Given the description of an element on the screen output the (x, y) to click on. 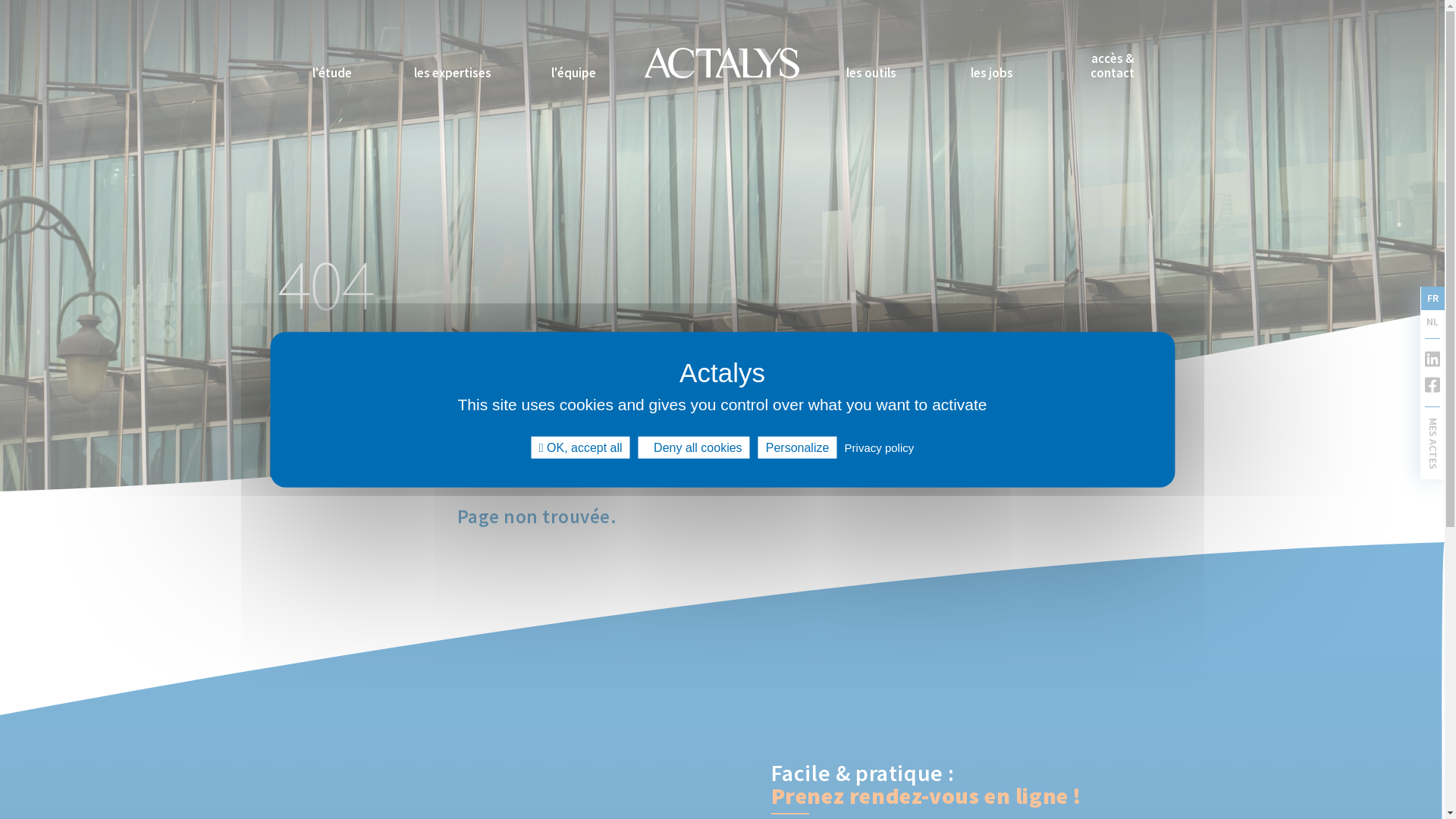
OK, accept all Element type: text (580, 447)
Prenez rendez-vous en ligne ! Element type: text (925, 799)
les outils Element type: text (871, 75)
les jobs Element type: text (991, 75)
les expertises Element type: text (452, 75)
Personalize Element type: text (797, 447)
Privacy policy Element type: text (879, 446)
Deny all cookies Element type: text (693, 447)
FR Element type: text (1432, 298)
NL Element type: text (1432, 321)
